Given the description of an element on the screen output the (x, y) to click on. 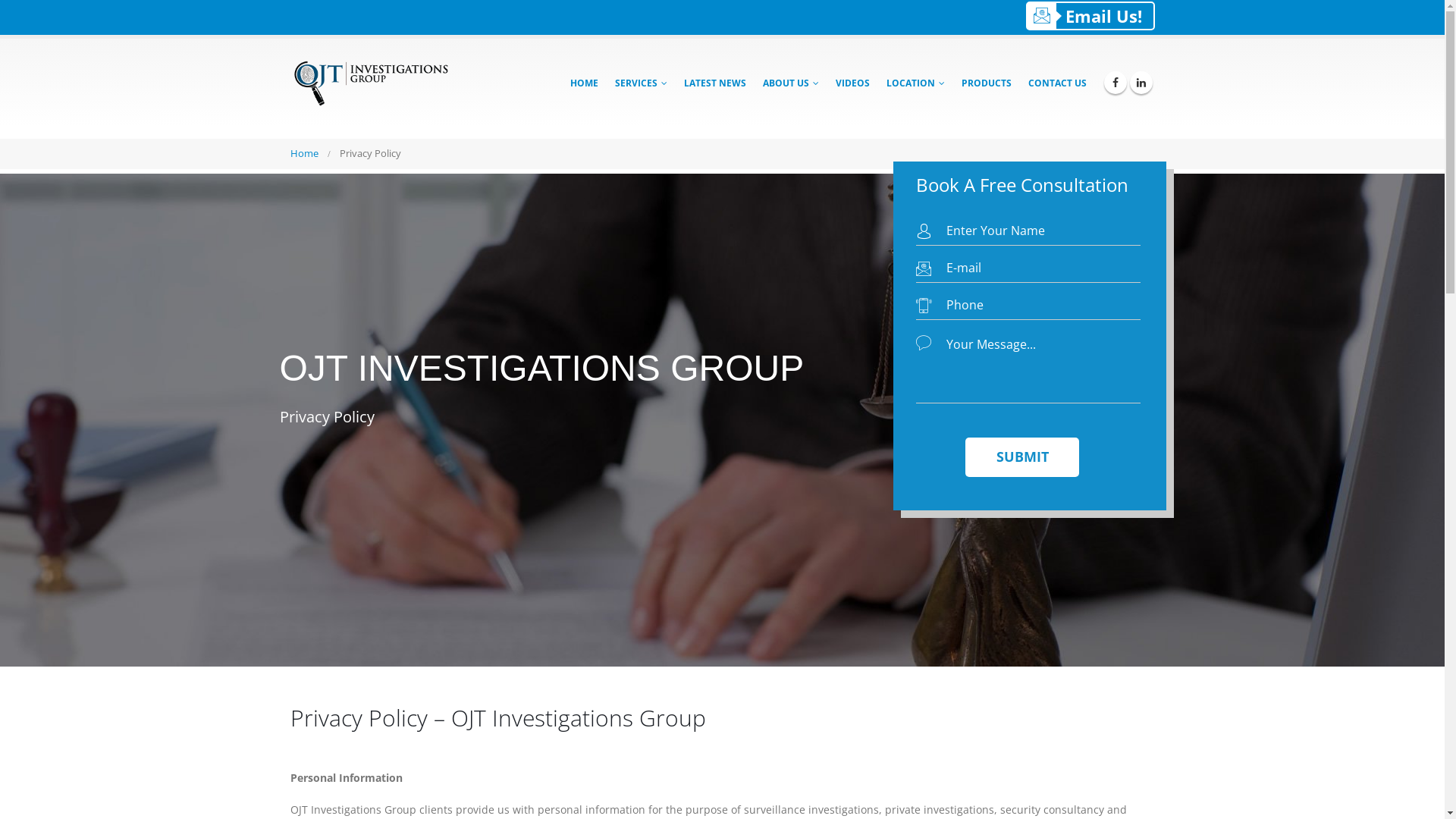
Facebook Element type: hover (1115, 82)
CONTACT US Element type: text (1057, 83)
LATEST NEWS Element type: text (714, 83)
OJT Investigations Group -  Element type: hover (384, 82)
VIDEOS Element type: text (852, 83)
ABOUT US Element type: text (790, 83)
LinkedIn Element type: hover (1140, 82)
Email Us! Element type: text (1089, 15)
Home Element type: text (303, 153)
SERVICES Element type: text (640, 83)
LOCATION Element type: text (915, 83)
PRODUCTS Element type: text (986, 83)
HOME Element type: text (583, 83)
Submit Element type: text (1021, 456)
